Given the description of an element on the screen output the (x, y) to click on. 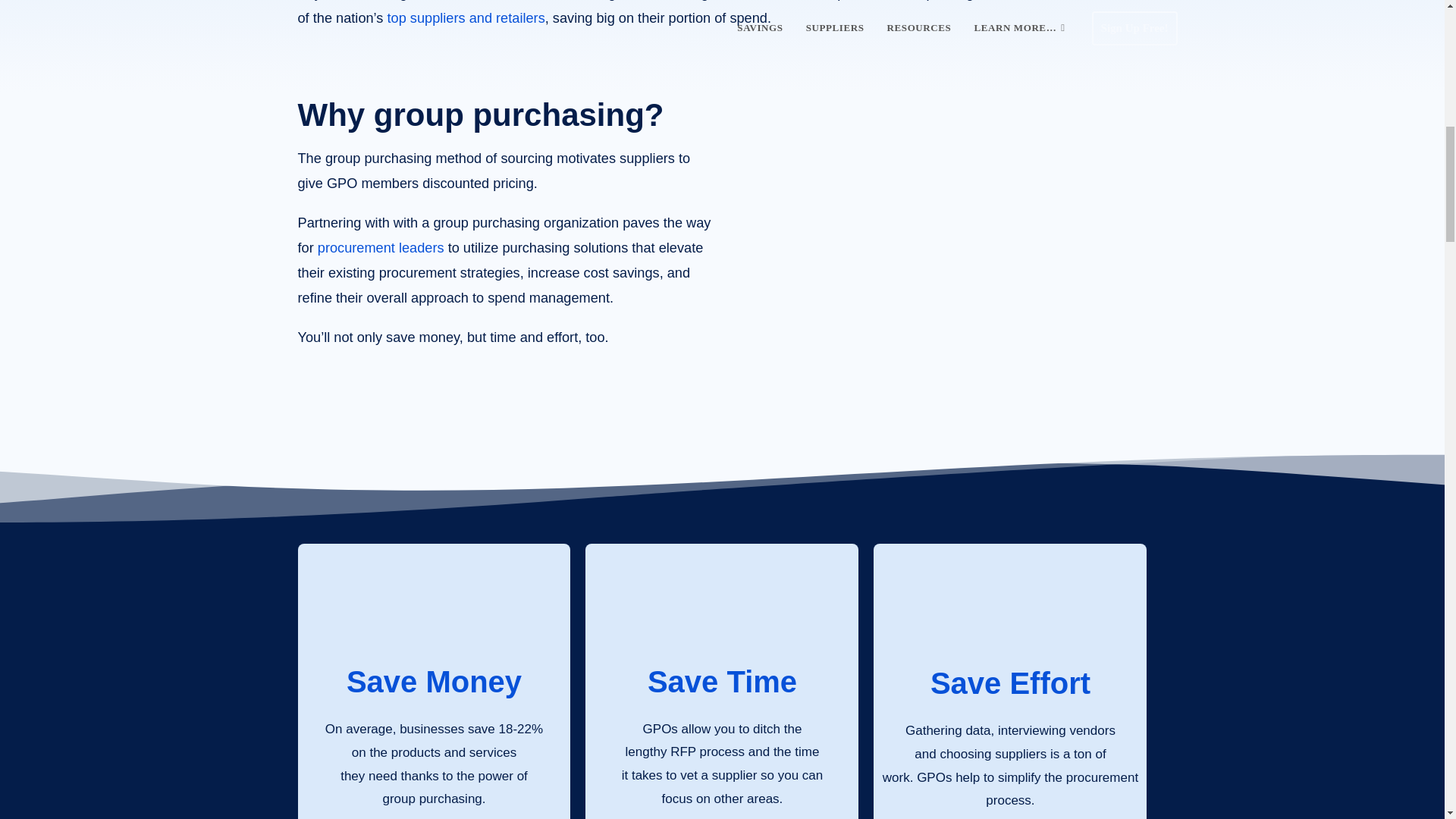
Page 3 (722, 15)
procurement leaders (380, 247)
top suppliers and retailers (465, 17)
